Given the description of an element on the screen output the (x, y) to click on. 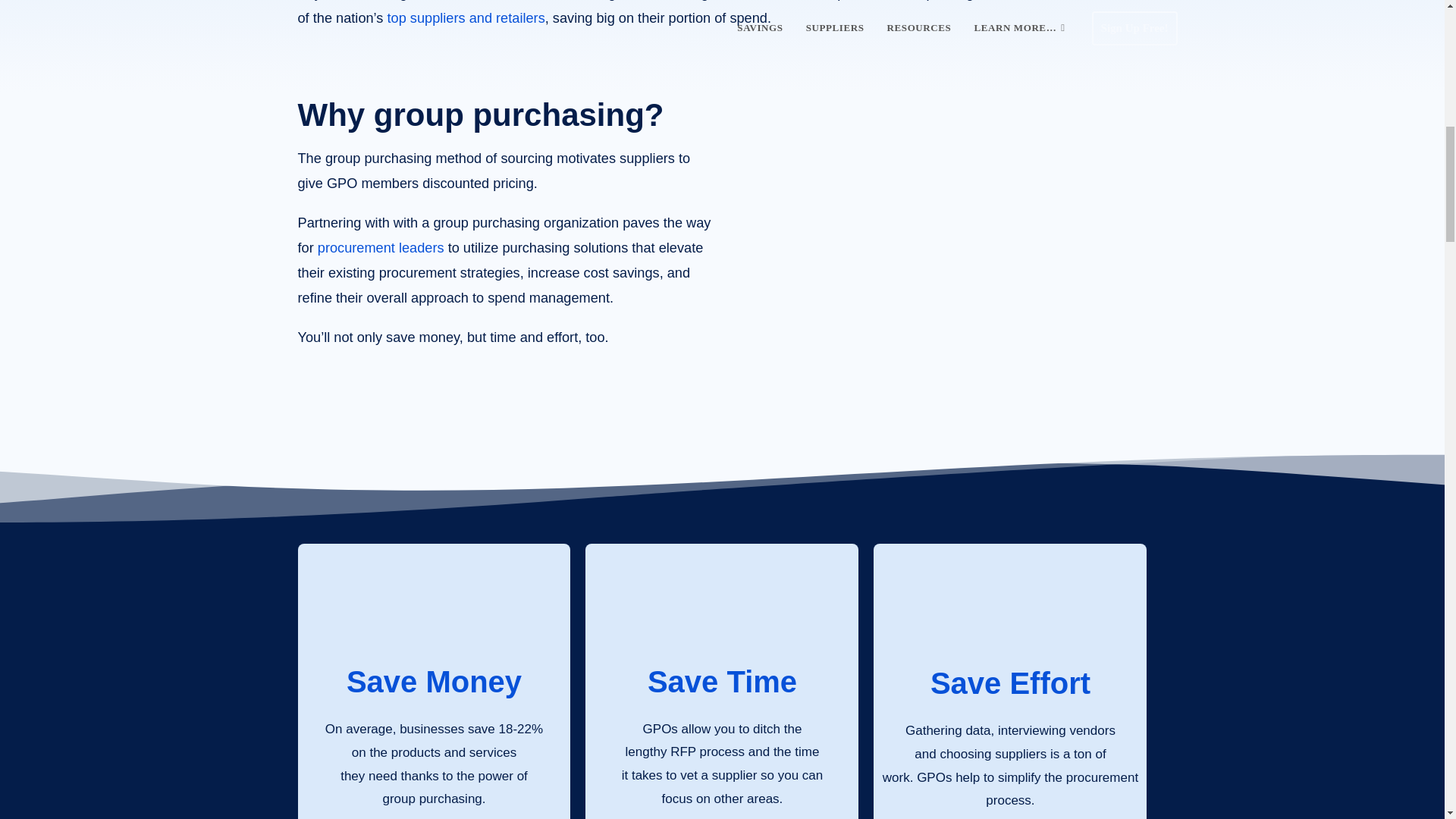
Page 3 (722, 15)
procurement leaders (380, 247)
top suppliers and retailers (465, 17)
